Given the description of an element on the screen output the (x, y) to click on. 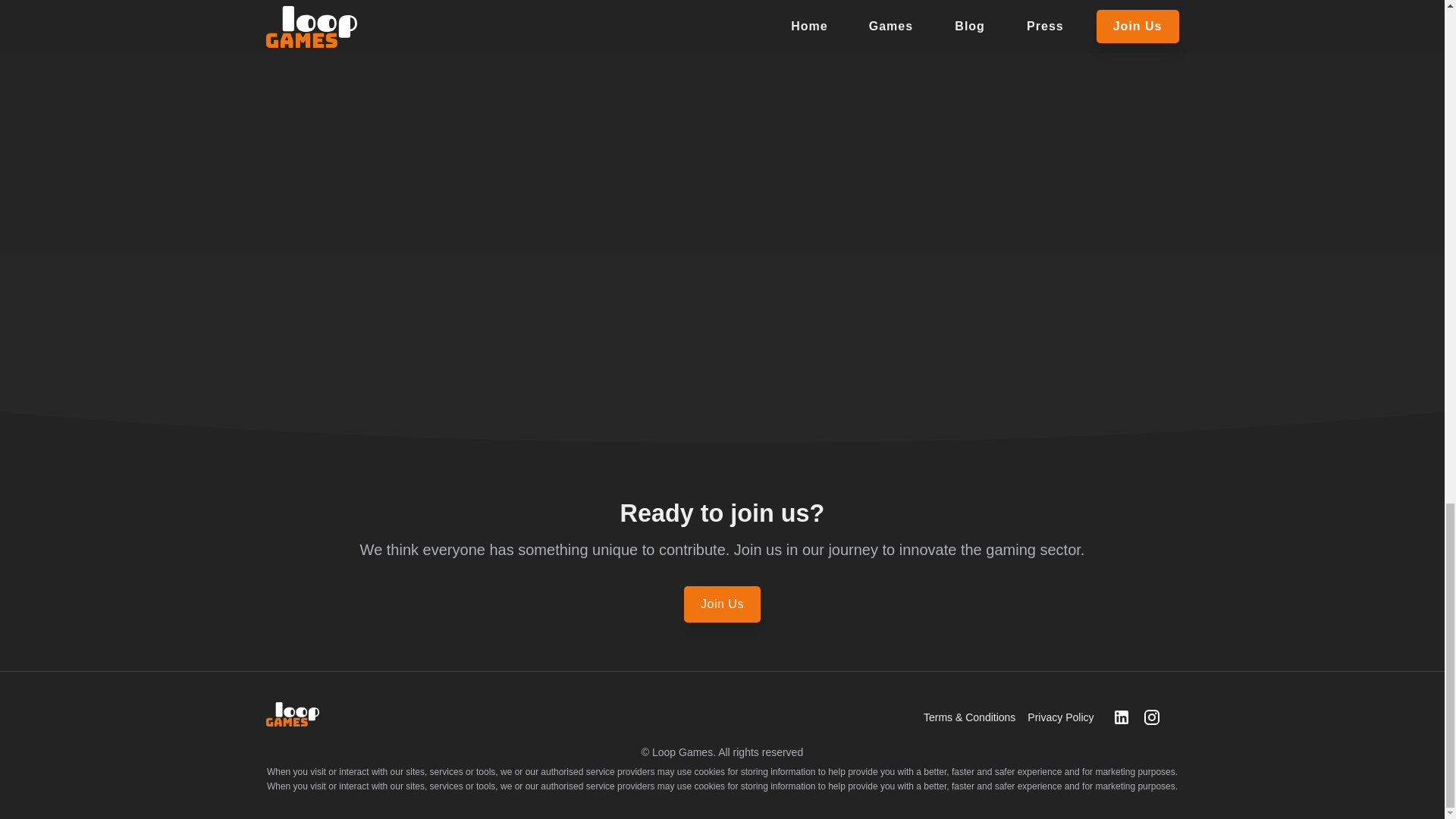
Join Us (722, 604)
theFront (291, 713)
Privacy Policy (1060, 717)
